Given the description of an element on the screen output the (x, y) to click on. 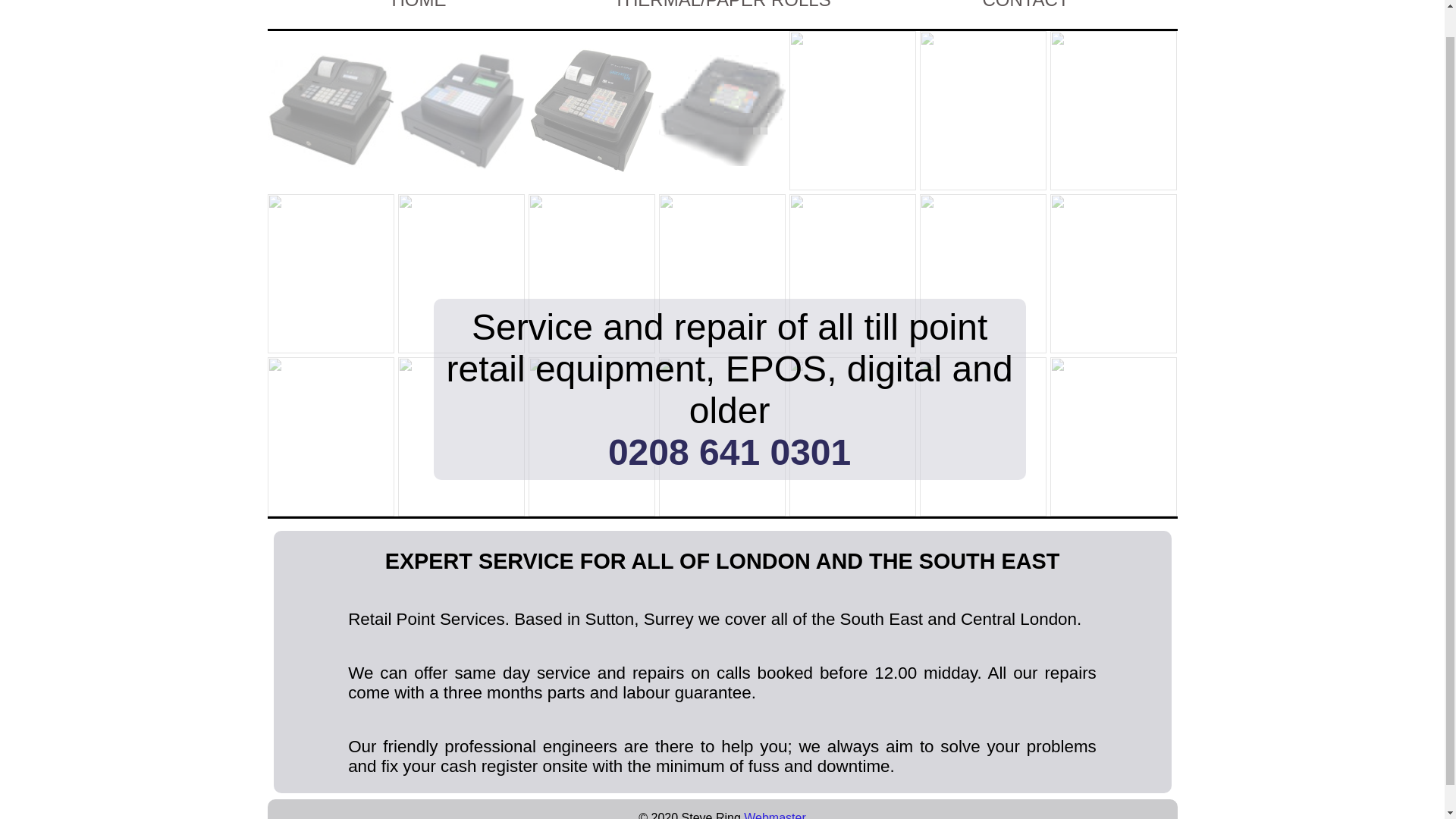
0208 641 0301 (729, 452)
HOME (418, 5)
CONTACT (1024, 5)
